Given the description of an element on the screen output the (x, y) to click on. 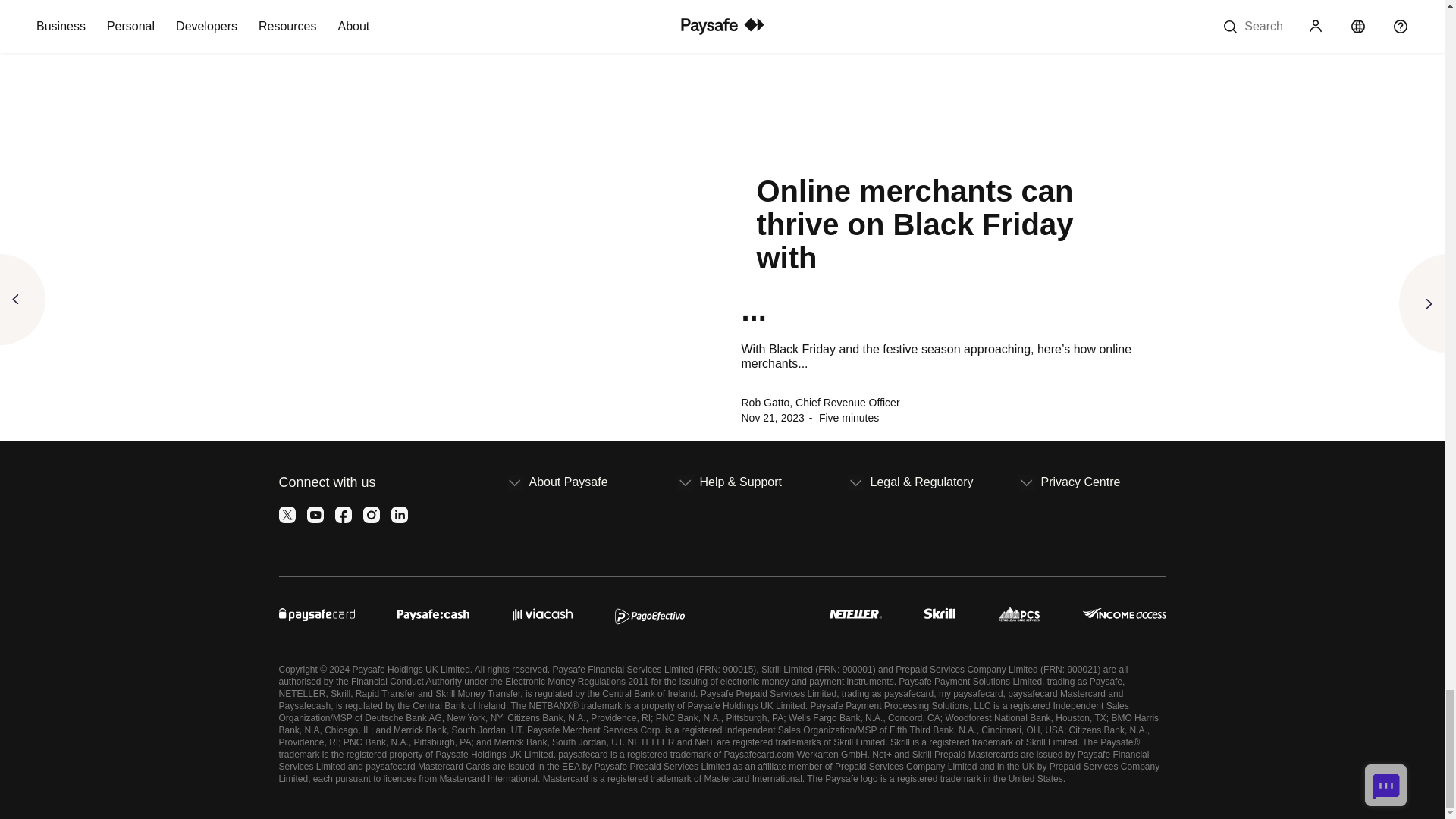
viacash (542, 611)
Paysafecard (317, 611)
Paysafecash (432, 611)
